Given the description of an element on the screen output the (x, y) to click on. 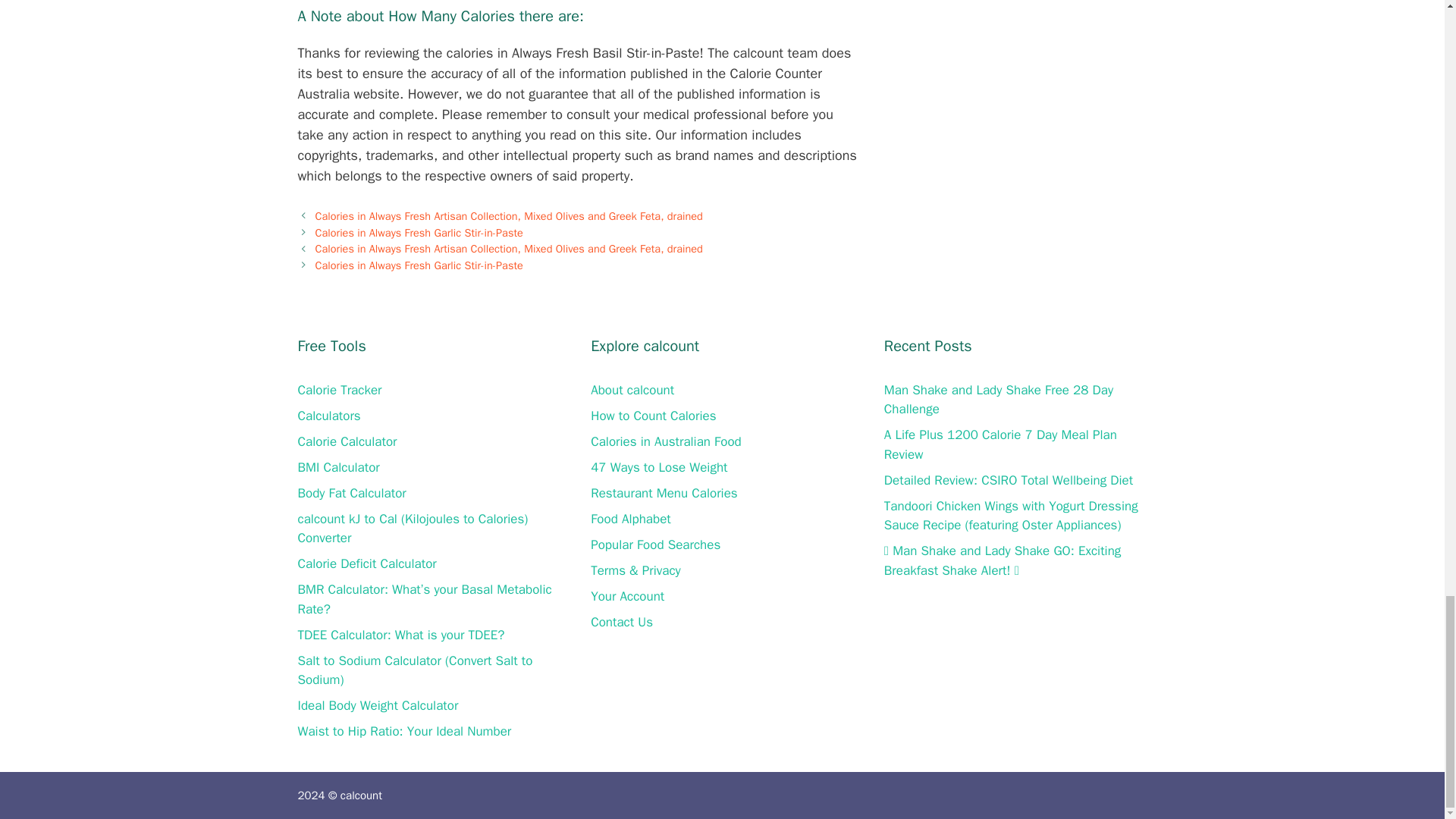
Calories in Always Fresh Garlic Stir-in-Paste (418, 232)
Calculators (328, 415)
Calorie Calculator (346, 441)
BMI Calculator (337, 467)
Calories in Always Fresh Garlic Stir-in-Paste (418, 264)
Calorie Tracker (339, 390)
